Given the description of an element on the screen output the (x, y) to click on. 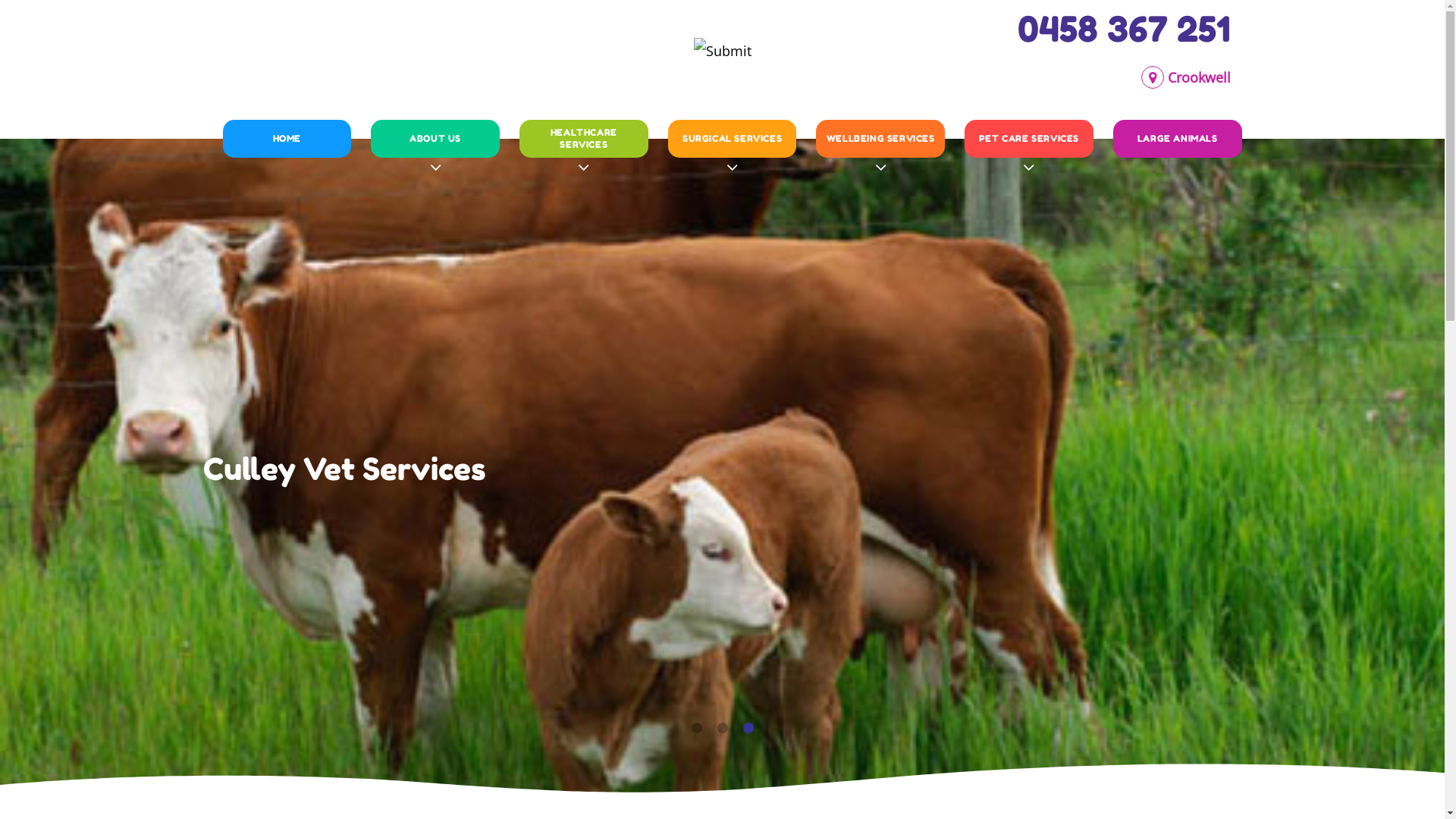
HEALTHCARE SERVICES Element type: text (583, 138)
WELLBEING SERVICES Element type: text (880, 138)
ABOUT US Element type: text (434, 138)
PET CARE SERVICES Element type: text (1028, 138)
HOME Element type: text (286, 138)
0458 367 251 Element type: text (1123, 28)
SURGICAL SERVICES Element type: text (732, 138)
LARGE ANIMALS Element type: text (1177, 138)
